Given the description of an element on the screen output the (x, y) to click on. 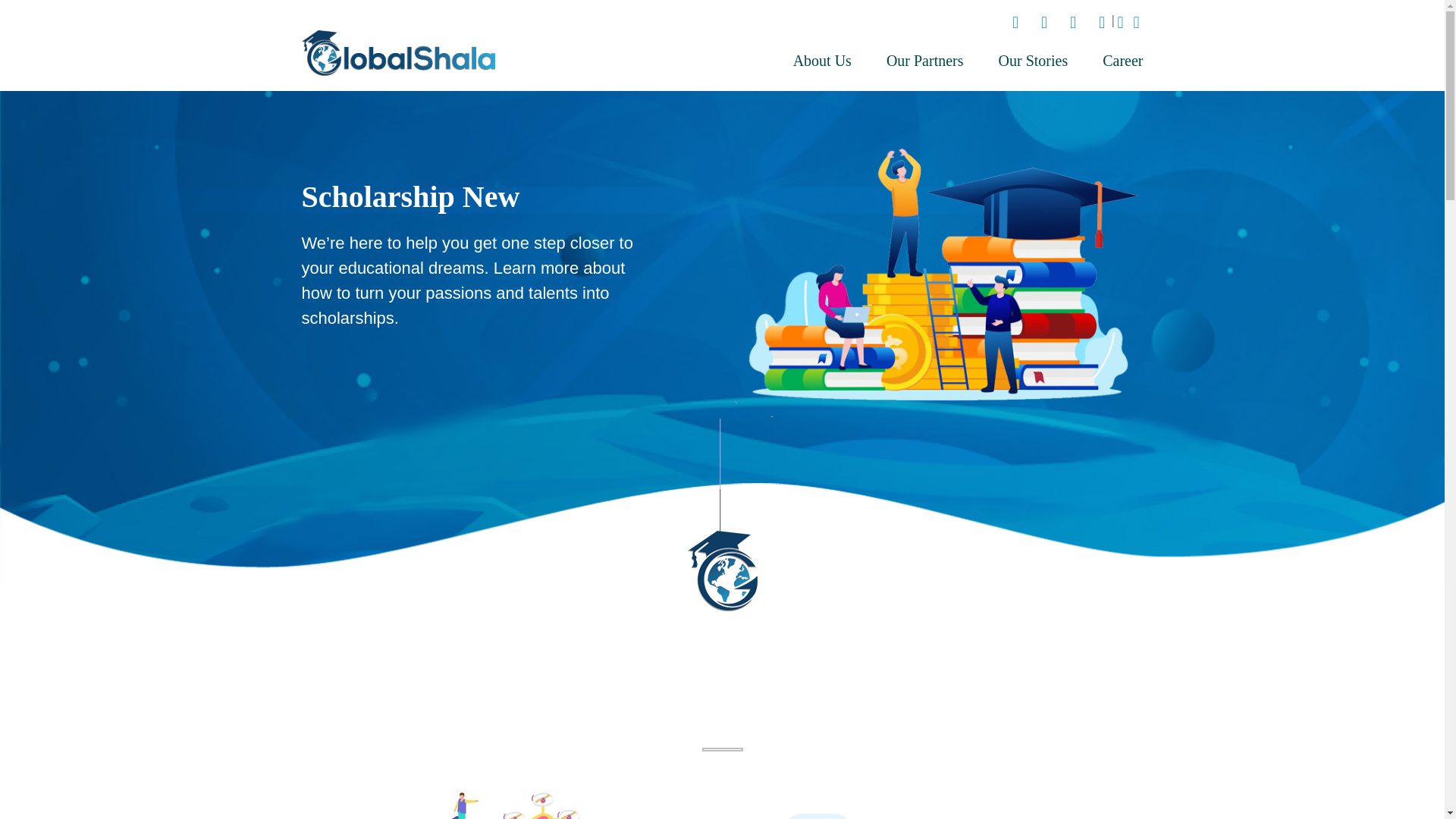
Our Partners (925, 60)
Career (1113, 60)
About Us (822, 60)
Our Stories (1033, 60)
